Given the description of an element on the screen output the (x, y) to click on. 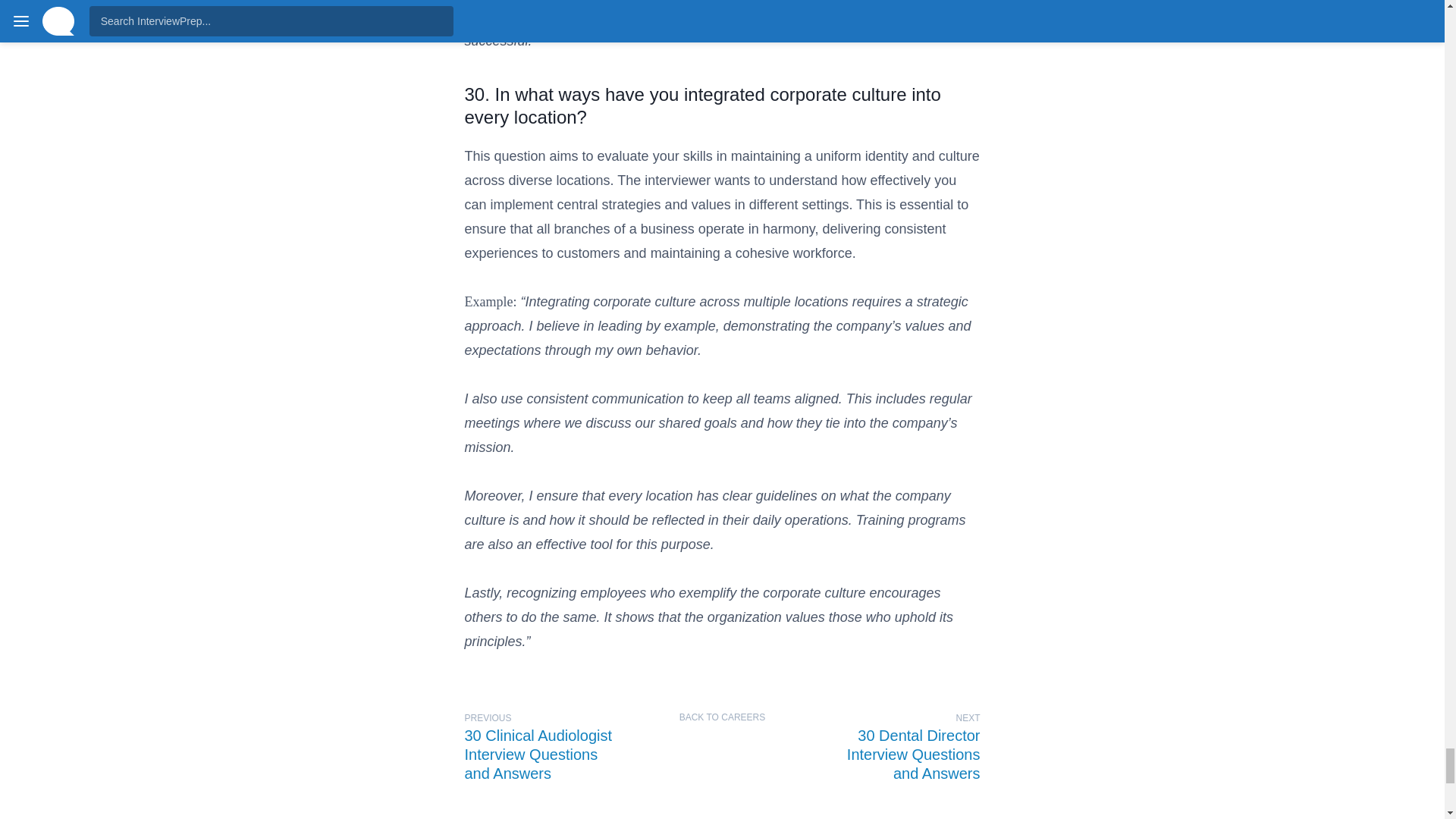
BACK TO CAREERS (900, 745)
